Given the description of an element on the screen output the (x, y) to click on. 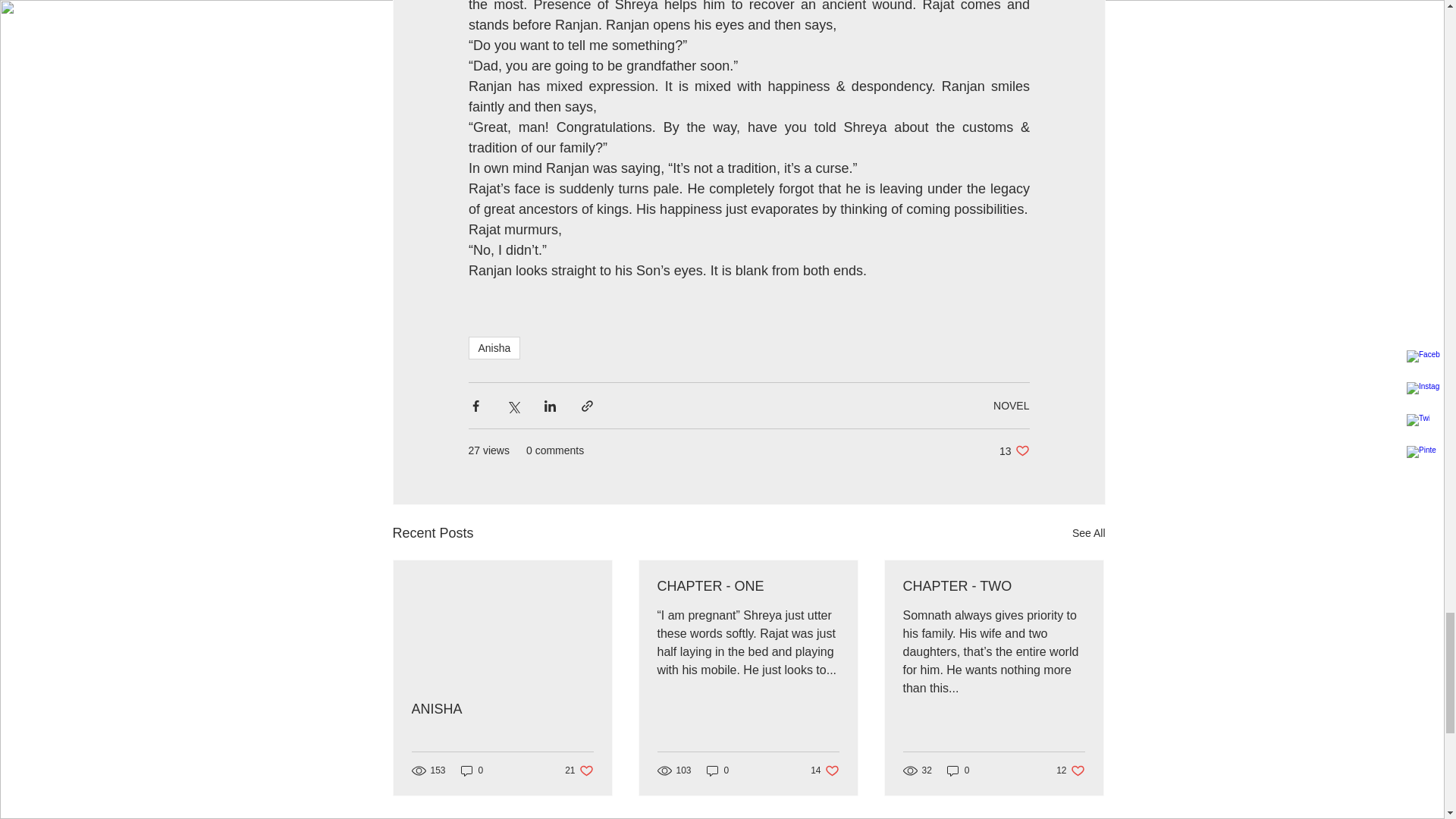
See All (1088, 533)
0 (957, 769)
0 (717, 769)
NOVEL (1010, 404)
ANISHA (501, 709)
CHAPTER - TWO (993, 586)
CHAPTER - ONE (1013, 450)
Anisha (747, 586)
